Given the description of an element on the screen output the (x, y) to click on. 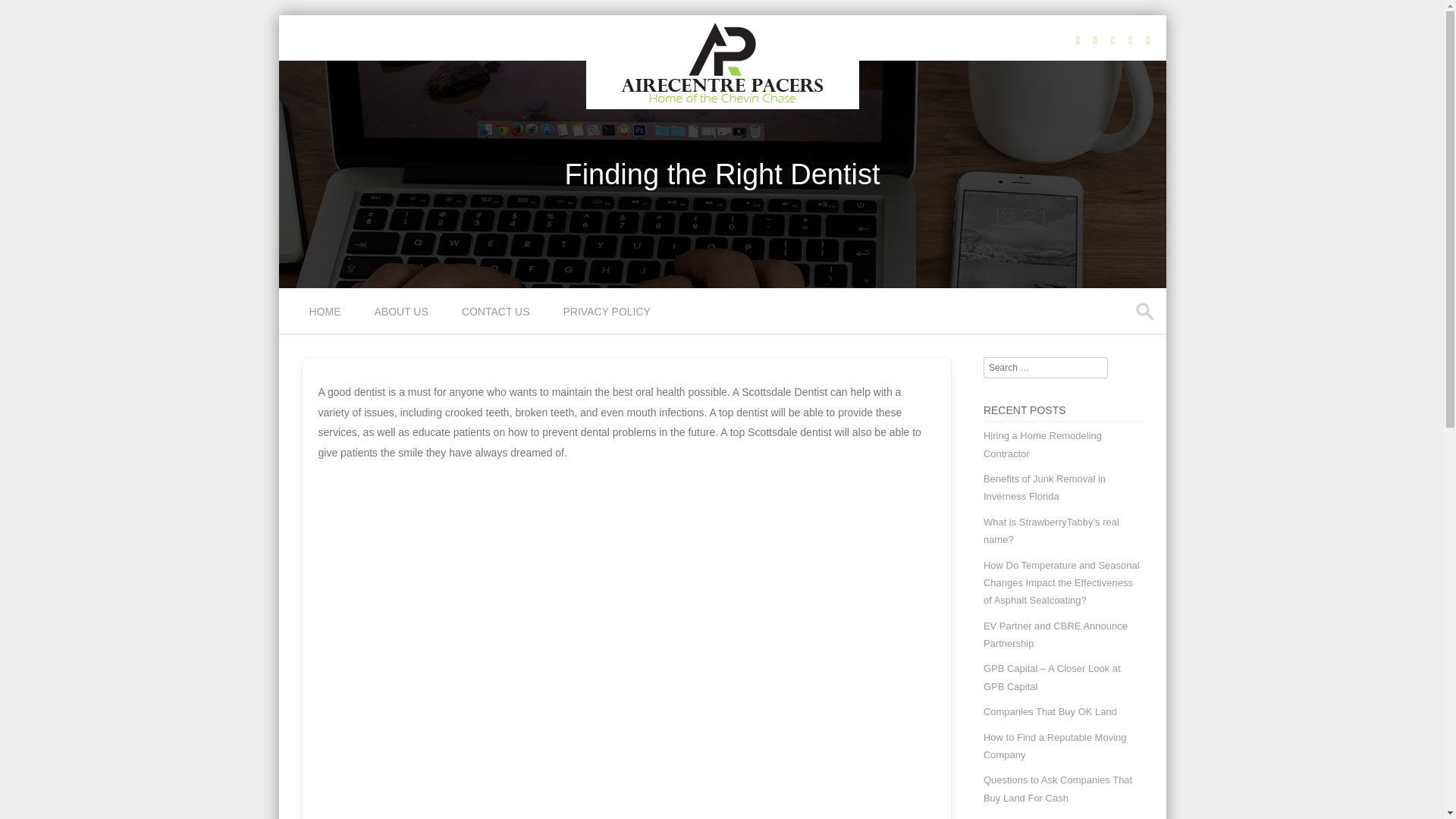
Companies That Buy OK Land (1050, 711)
PRIVACY POLICY (608, 310)
Menu (305, 320)
ABOUT US (402, 310)
Skip to content (314, 297)
Navigation Toggle (305, 320)
Questions to Ask Companies That Buy Land For Cash (1058, 788)
Airecentre Pacers (722, 98)
Hiring a Home Remodeling Contractor (1043, 443)
